Given the description of an element on the screen output the (x, y) to click on. 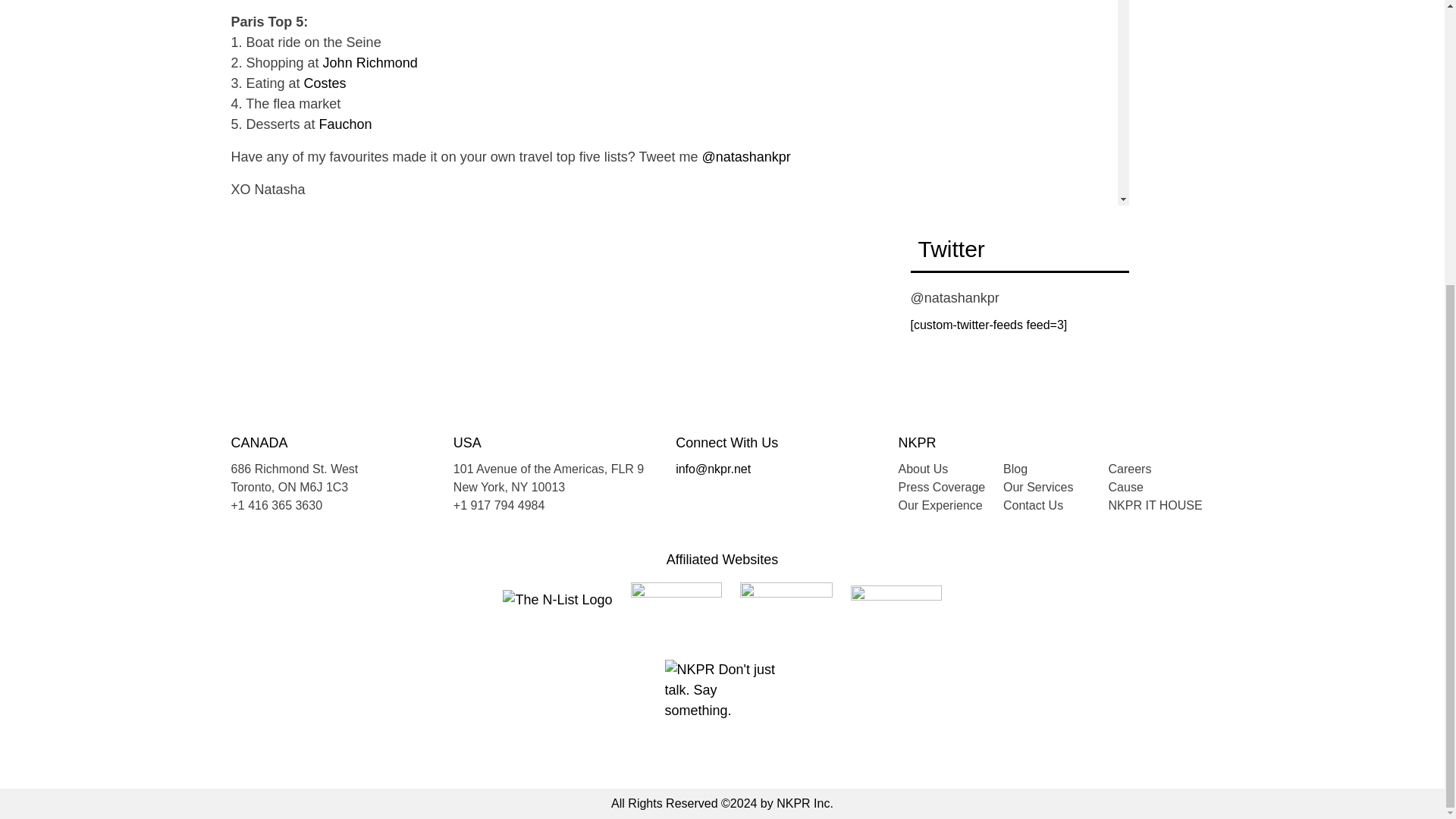
Contact Us (1032, 505)
Cause (1125, 487)
Careers (1129, 469)
Our Experience (939, 505)
Blog (1015, 469)
Our Services (1038, 487)
Fauchon (345, 124)
Costes (325, 83)
Press Coverage (941, 487)
John Richmond (370, 62)
